Given the description of an element on the screen output the (x, y) to click on. 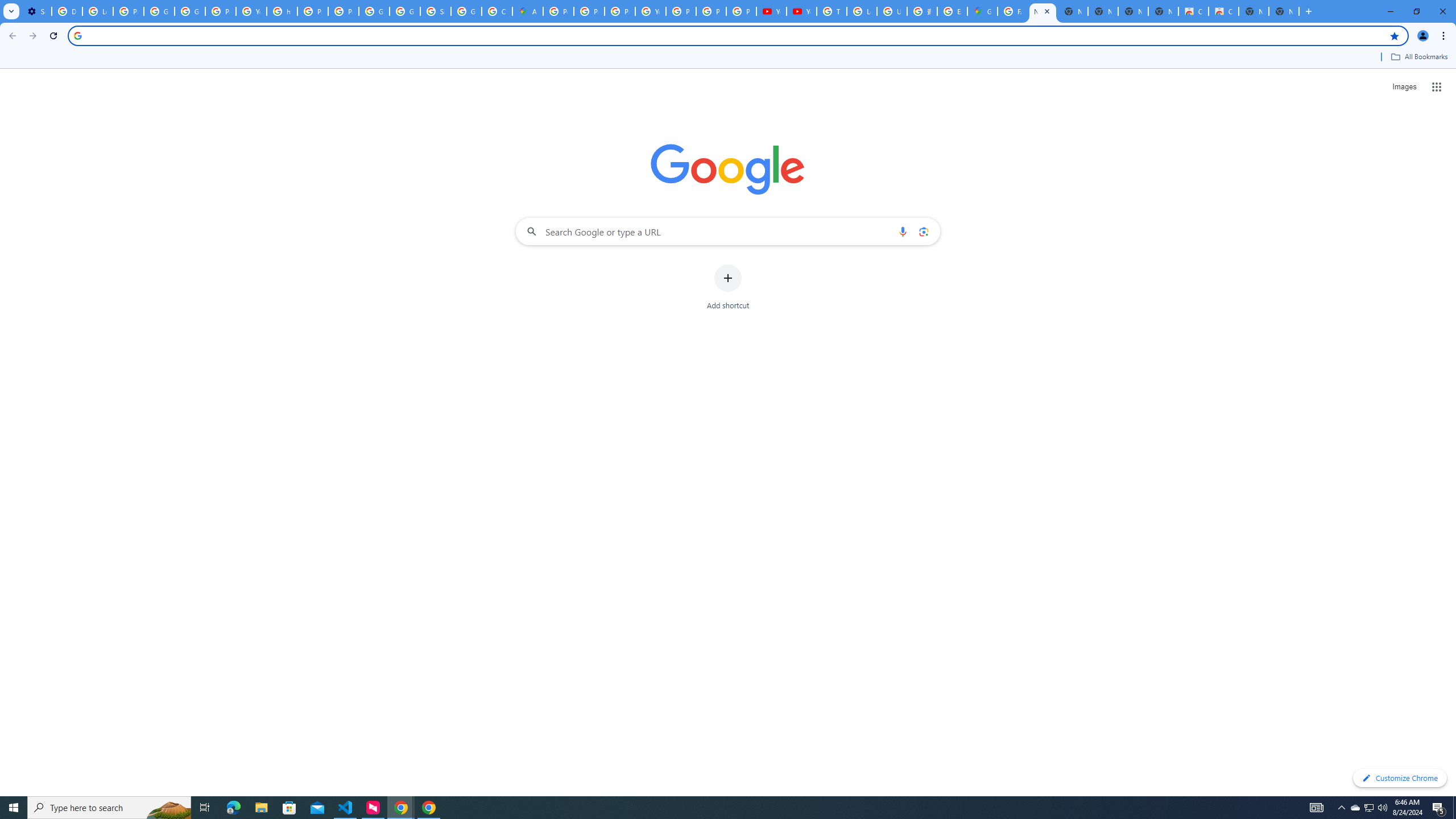
Classic Blue - Chrome Web Store (1223, 11)
